Given the description of an element on the screen output the (x, y) to click on. 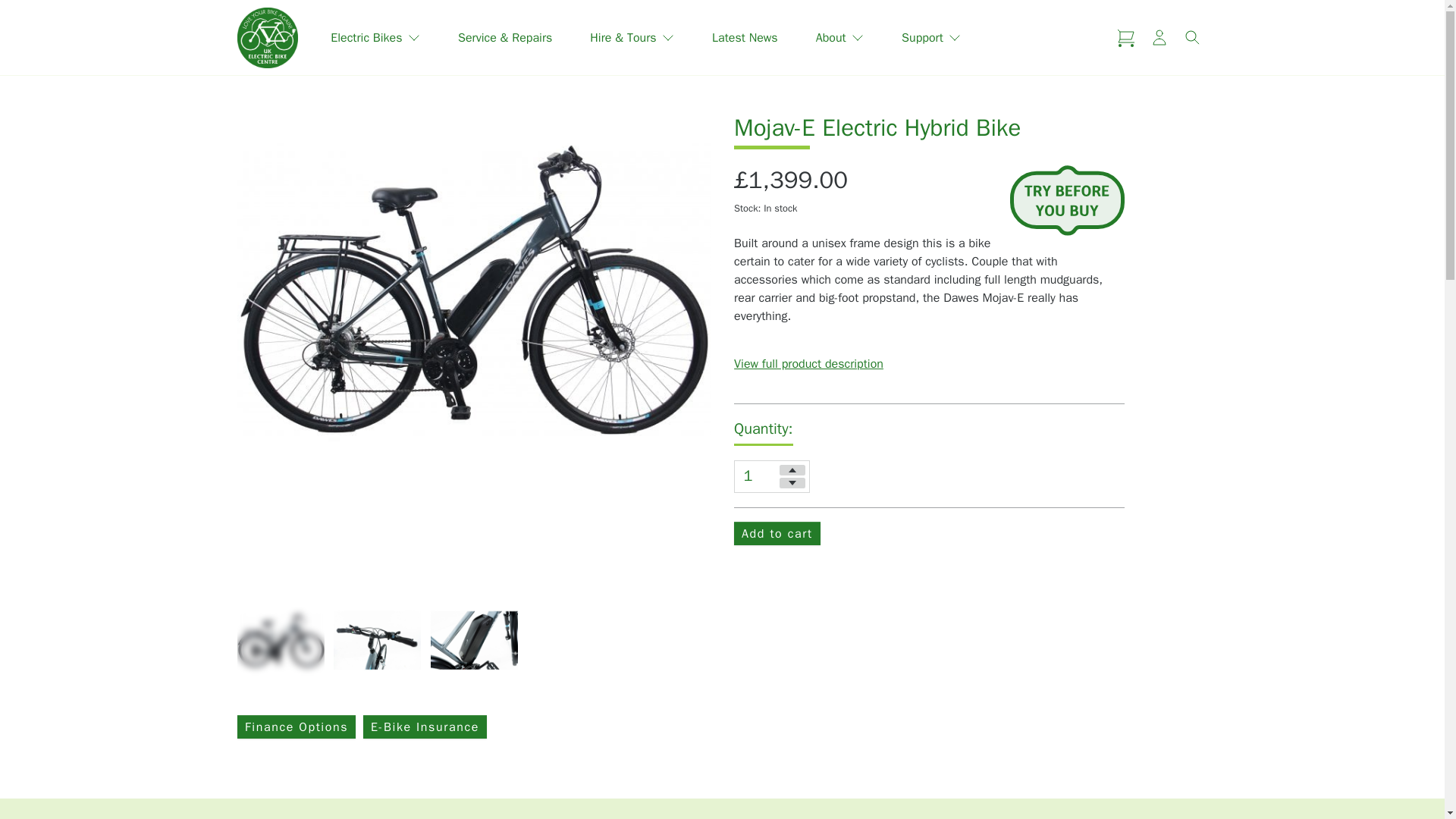
1 (771, 476)
Electric Bikes (375, 38)
Add to cart (777, 533)
